Given the description of an element on the screen output the (x, y) to click on. 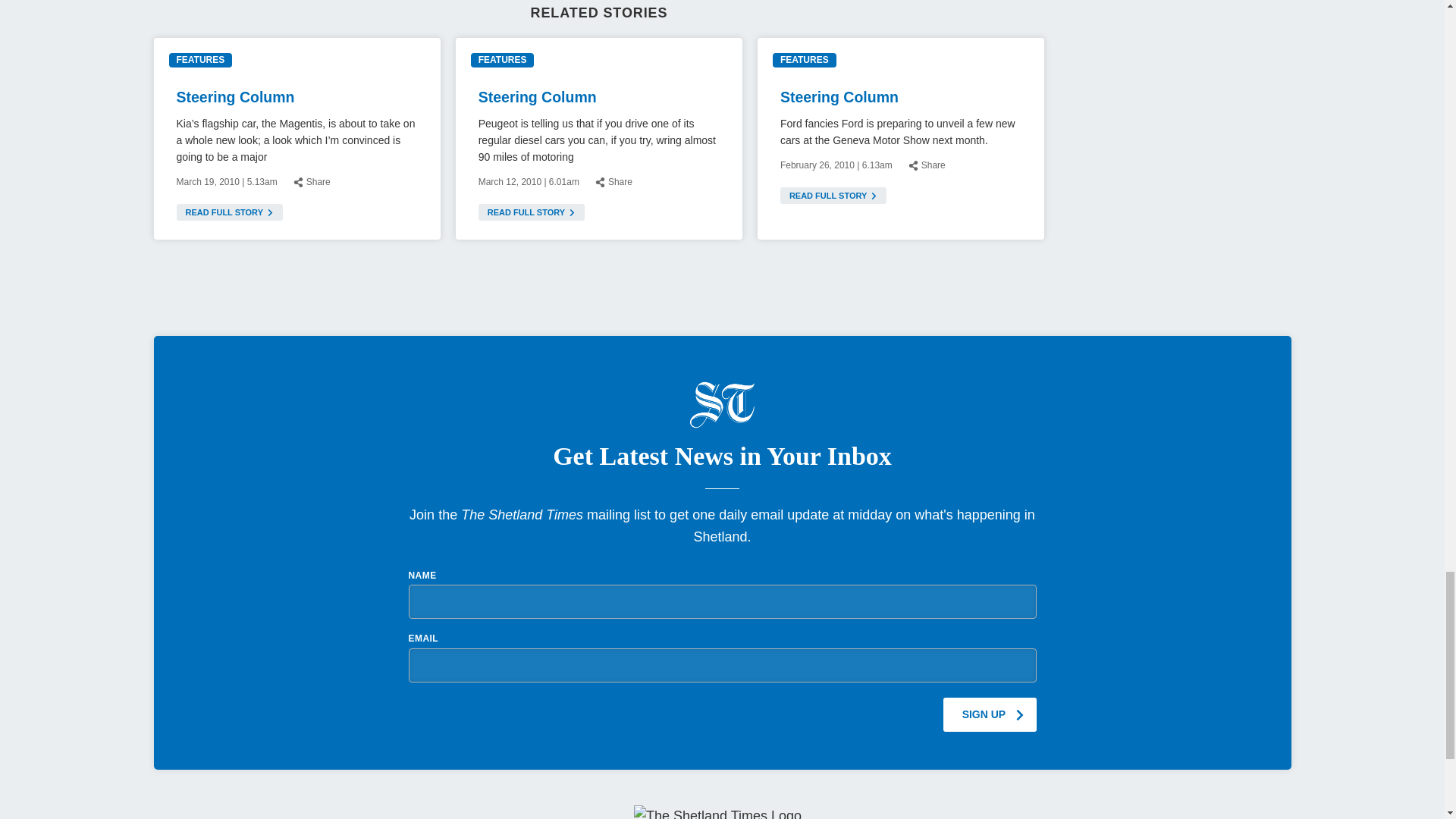
Steering Column (235, 96)
Steering Column (839, 96)
READ FULL STORY (229, 211)
Steering Column (537, 96)
FEATURES (804, 60)
READ FULL STORY (532, 211)
READ FULL STORY (833, 195)
FEATURES (502, 60)
FEATURES (199, 60)
